Given the description of an element on the screen output the (x, y) to click on. 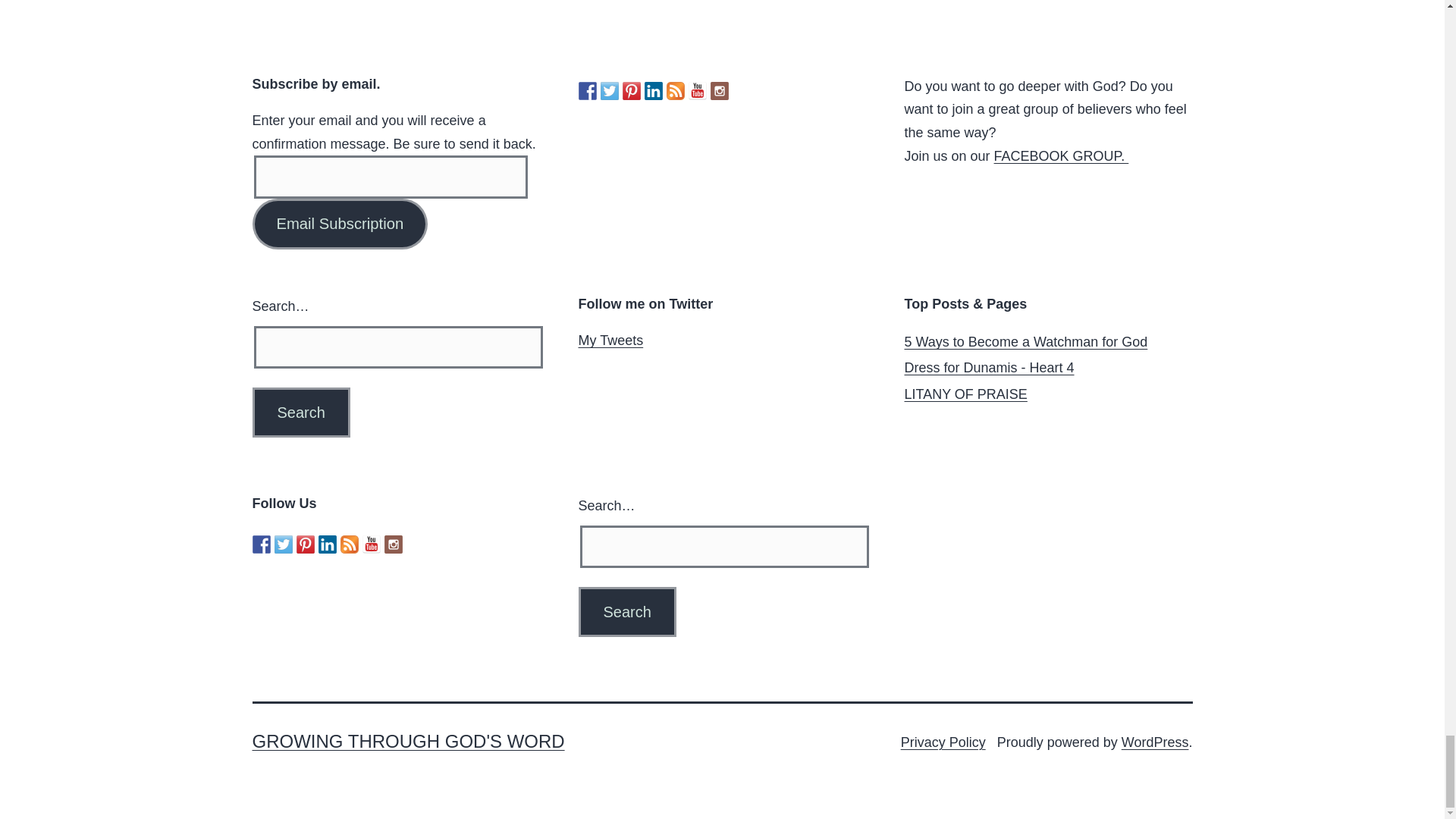
Search (626, 612)
Search (300, 412)
Search (300, 412)
Search (626, 612)
